Given the description of an element on the screen output the (x, y) to click on. 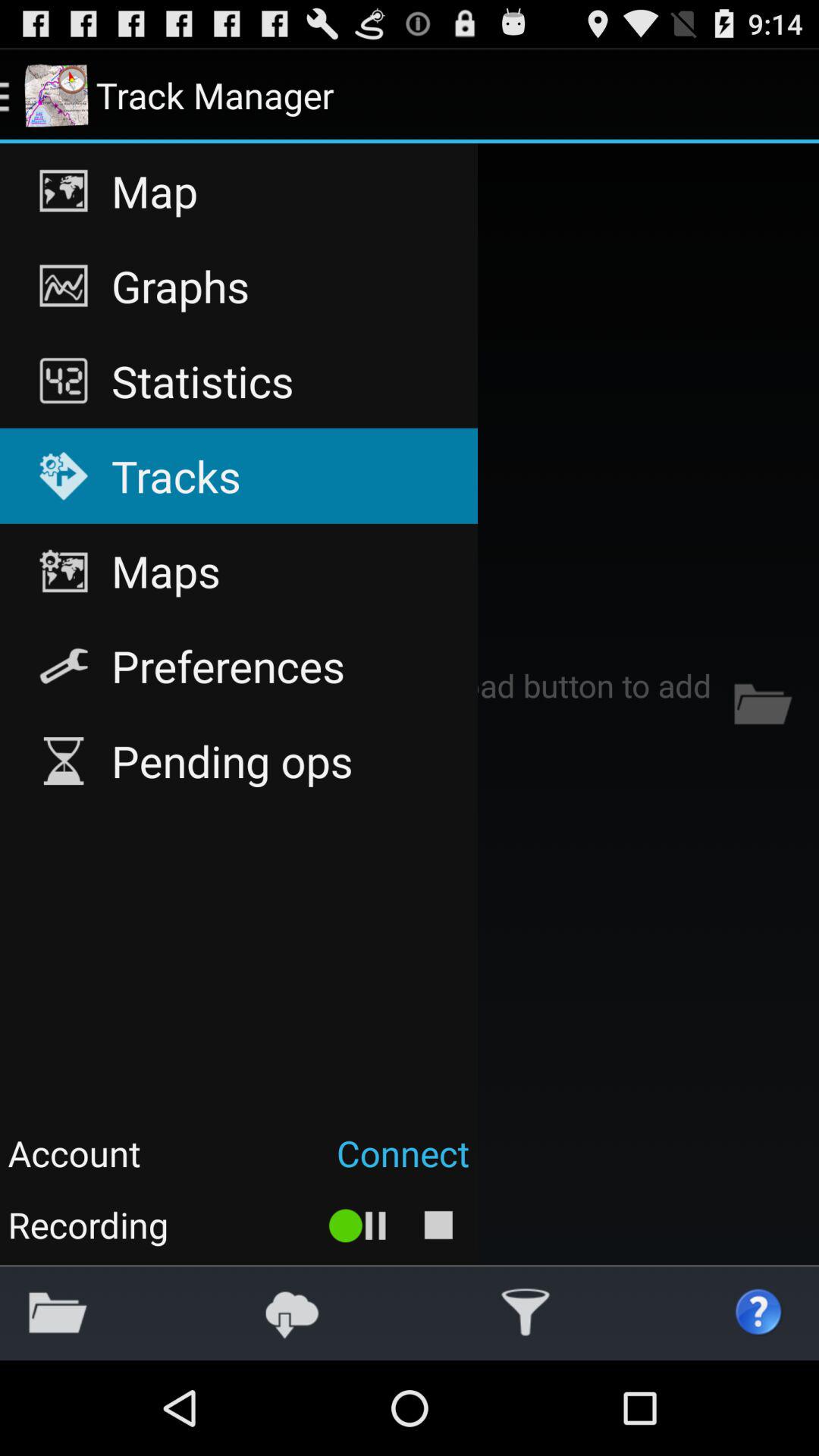
turn on the no tracks loaded icon (409, 703)
